Given the description of an element on the screen output the (x, y) to click on. 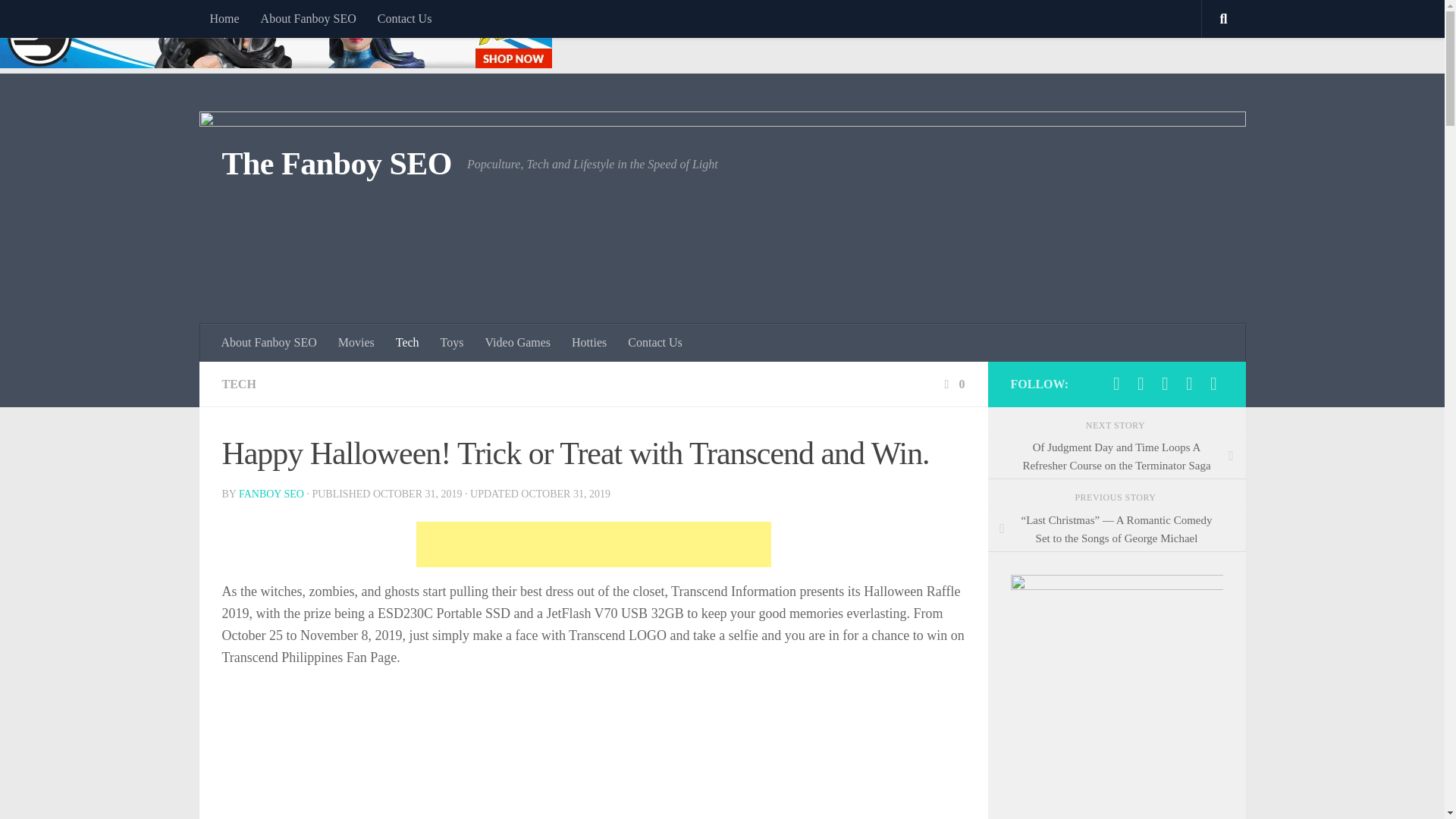
About Fanboy SEO (308, 18)
About Fanboy SEO (269, 342)
Home (223, 18)
FANBOY SEO (271, 493)
Movies (356, 342)
Follow us on Twitch (1188, 383)
Hotties (588, 342)
Contact Us (404, 18)
Follow us on Youtube (1164, 383)
TECH (238, 383)
